Given the description of an element on the screen output the (x, y) to click on. 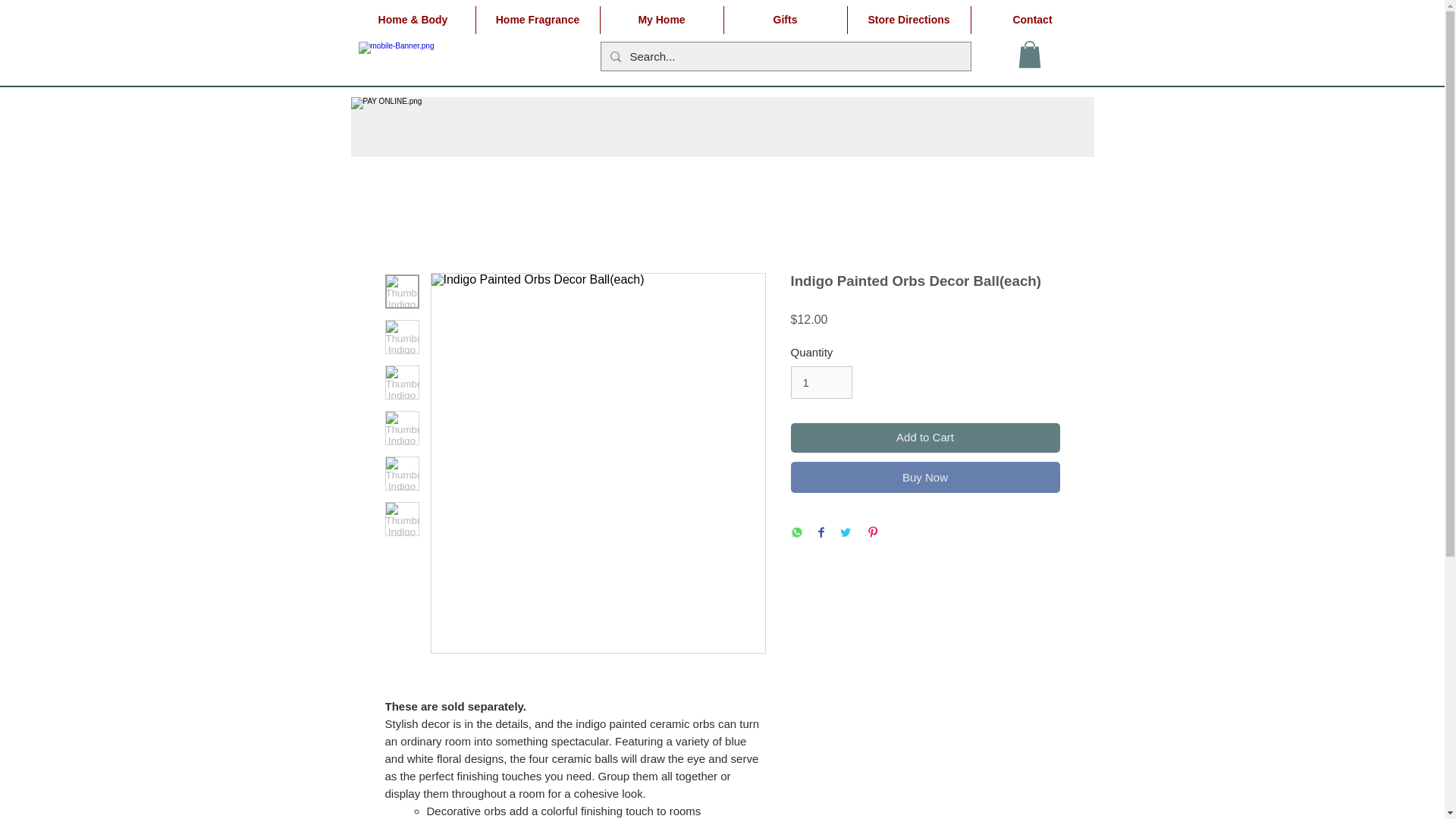
Store Directions (909, 19)
Home Fragrance (537, 19)
Gifts (784, 19)
My Home (661, 19)
Contact (1032, 19)
1 (820, 382)
